Given the description of an element on the screen output the (x, y) to click on. 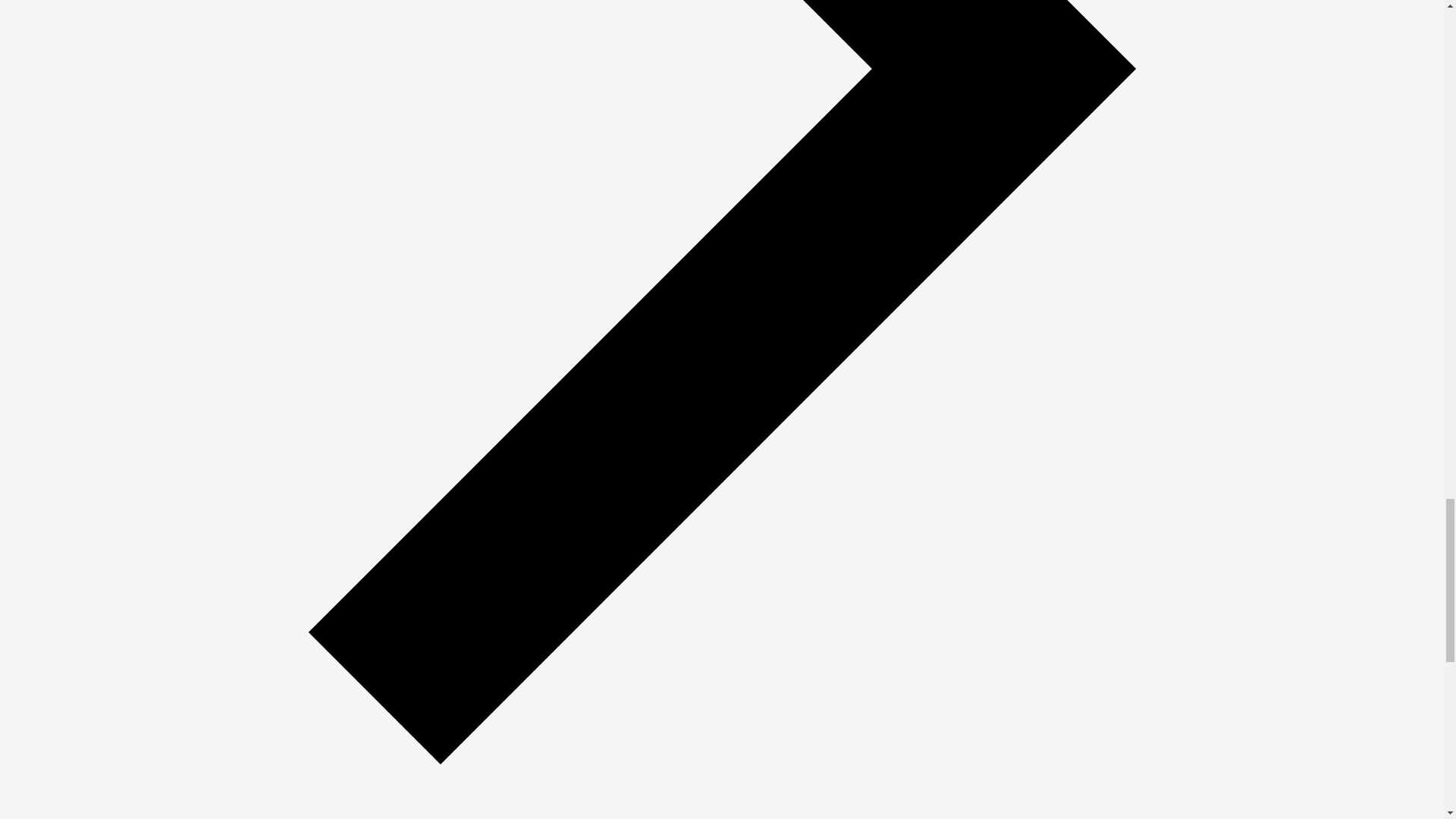
Next week (721, 768)
